Given the description of an element on the screen output the (x, y) to click on. 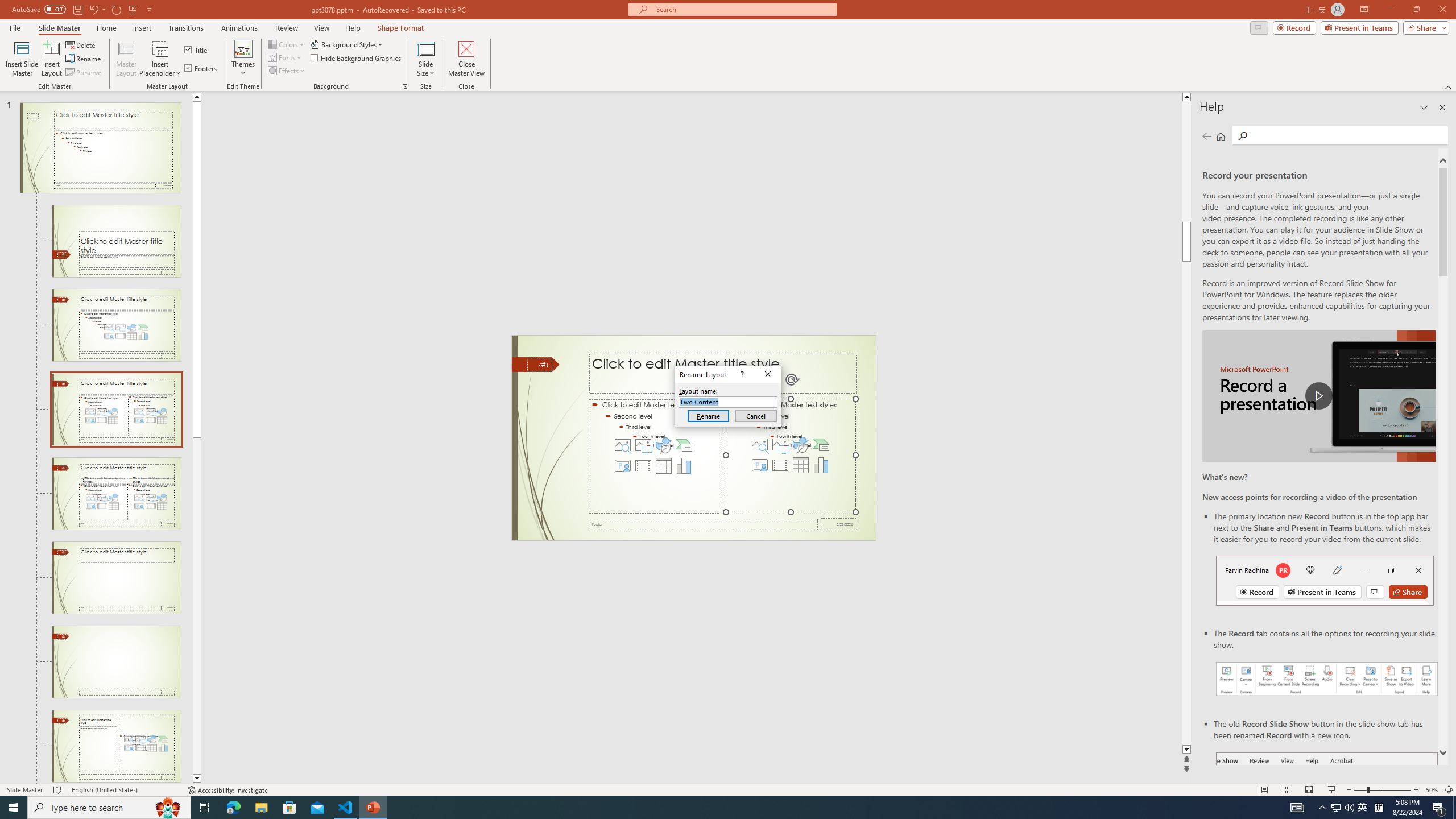
Page 1 content (579, 491)
Add/Edit Bibliography (92, 92)
